Given the description of an element on the screen output the (x, y) to click on. 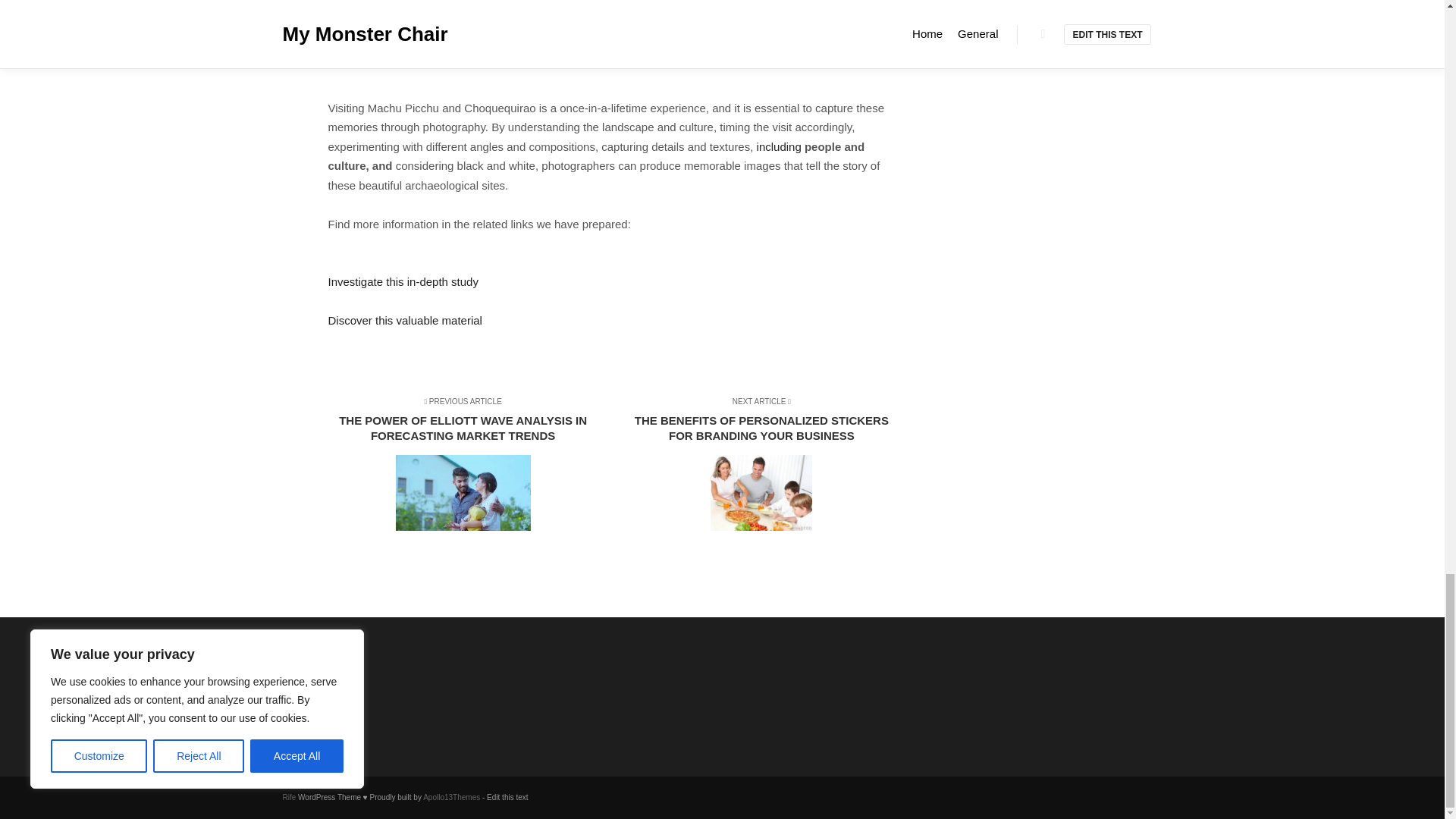
About (360, 683)
including (779, 146)
Investigate this in-depth study (402, 281)
Discover this valuable material (404, 319)
